Given the description of an element on the screen output the (x, y) to click on. 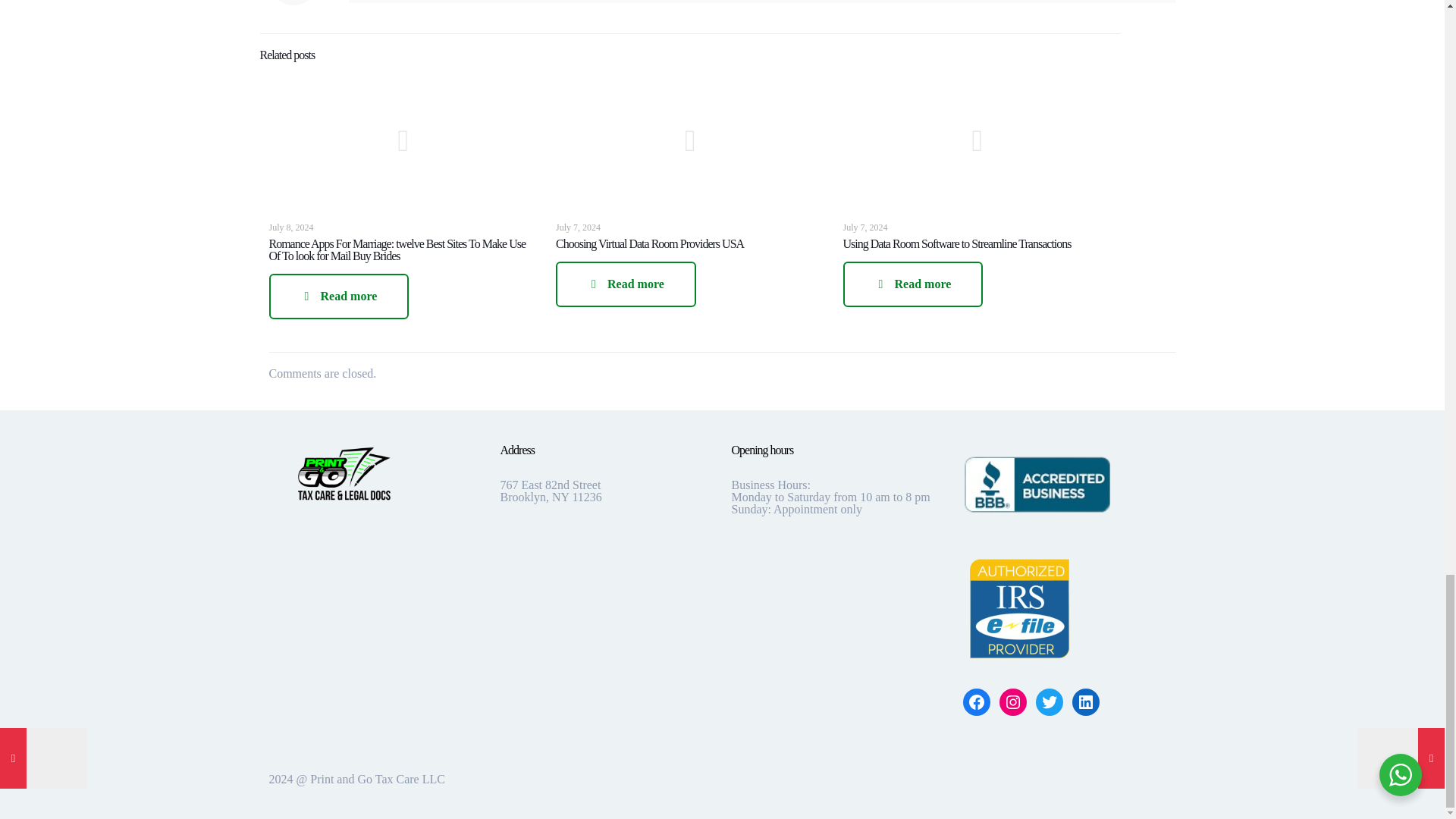
Using Data Room Software to Streamline Transactions (957, 243)
Instagram (1012, 701)
LinkedIn (1085, 701)
Read more (625, 284)
Twitter (1048, 701)
Choosing Virtual Data Room Providers USA (650, 243)
Facebook (976, 701)
Read more (338, 296)
Read more (913, 284)
